Given the description of an element on the screen output the (x, y) to click on. 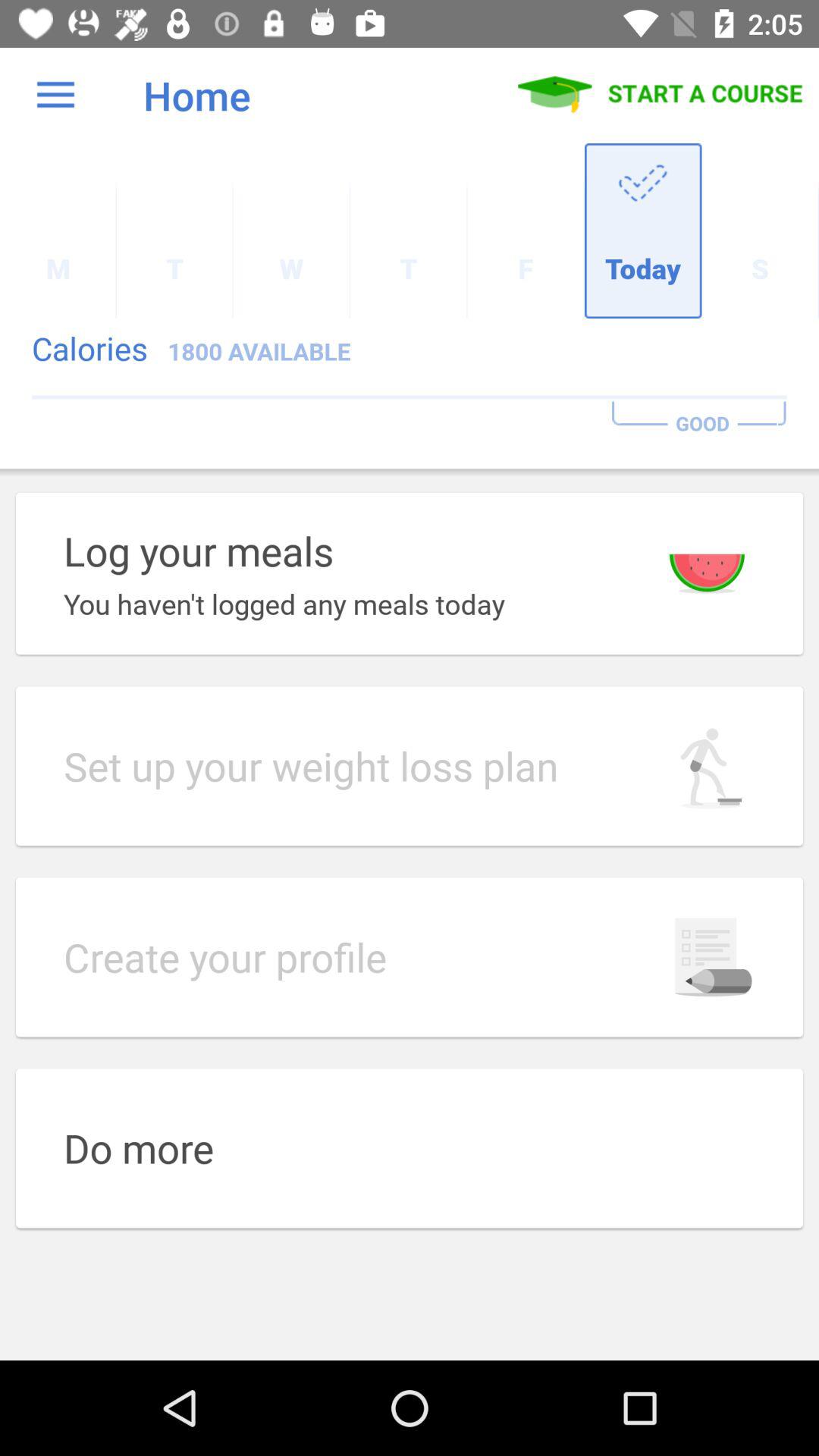
choose the item above the m (55, 95)
